Given the description of an element on the screen output the (x, y) to click on. 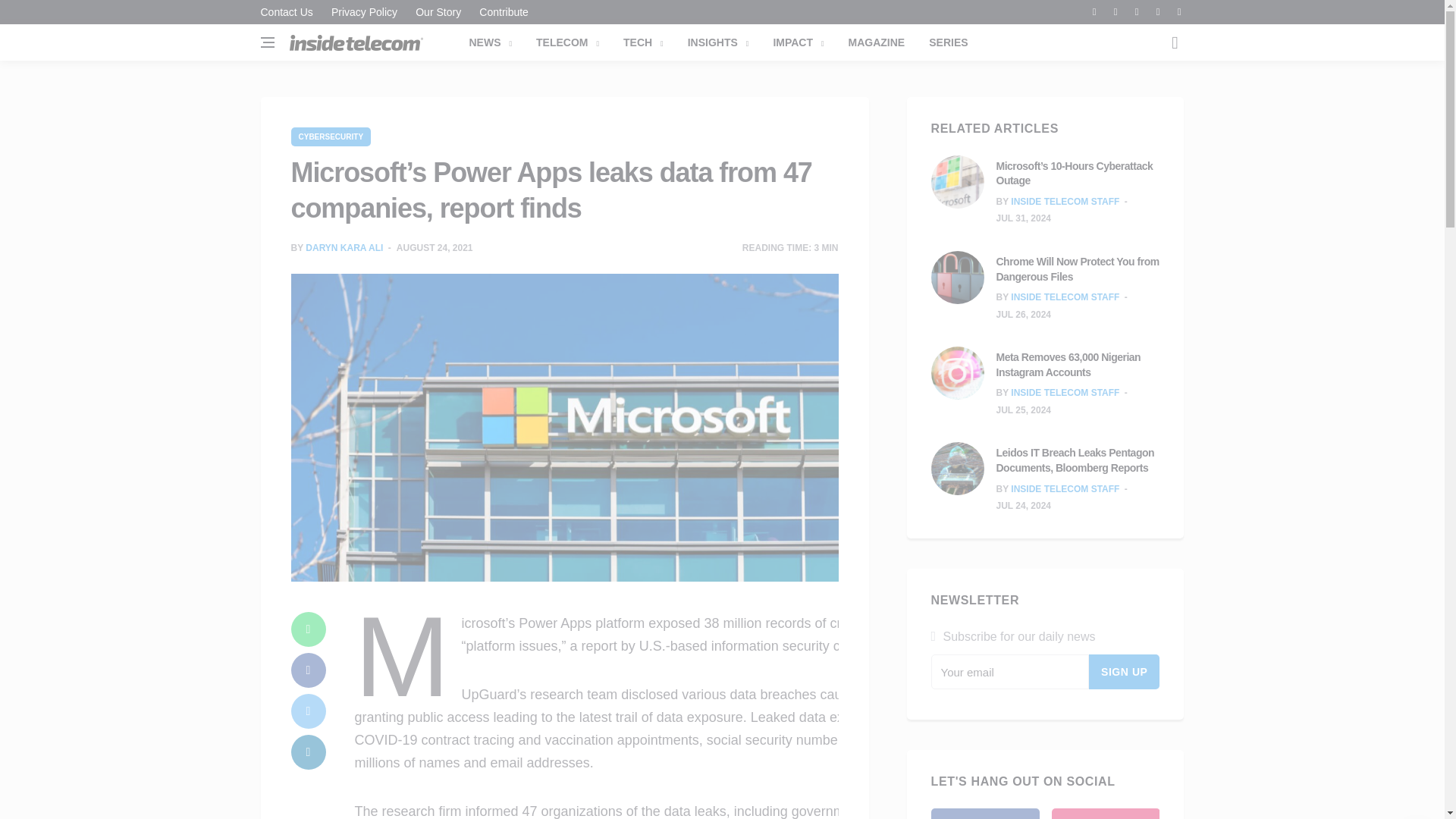
Privacy Policy (363, 12)
whatsapp (308, 629)
Our Story (437, 12)
Sign Up (1124, 671)
instagram (1104, 813)
twitter (308, 710)
Contribute (499, 12)
facebook (985, 813)
linkedin (308, 751)
facebook (308, 669)
